Given the description of an element on the screen output the (x, y) to click on. 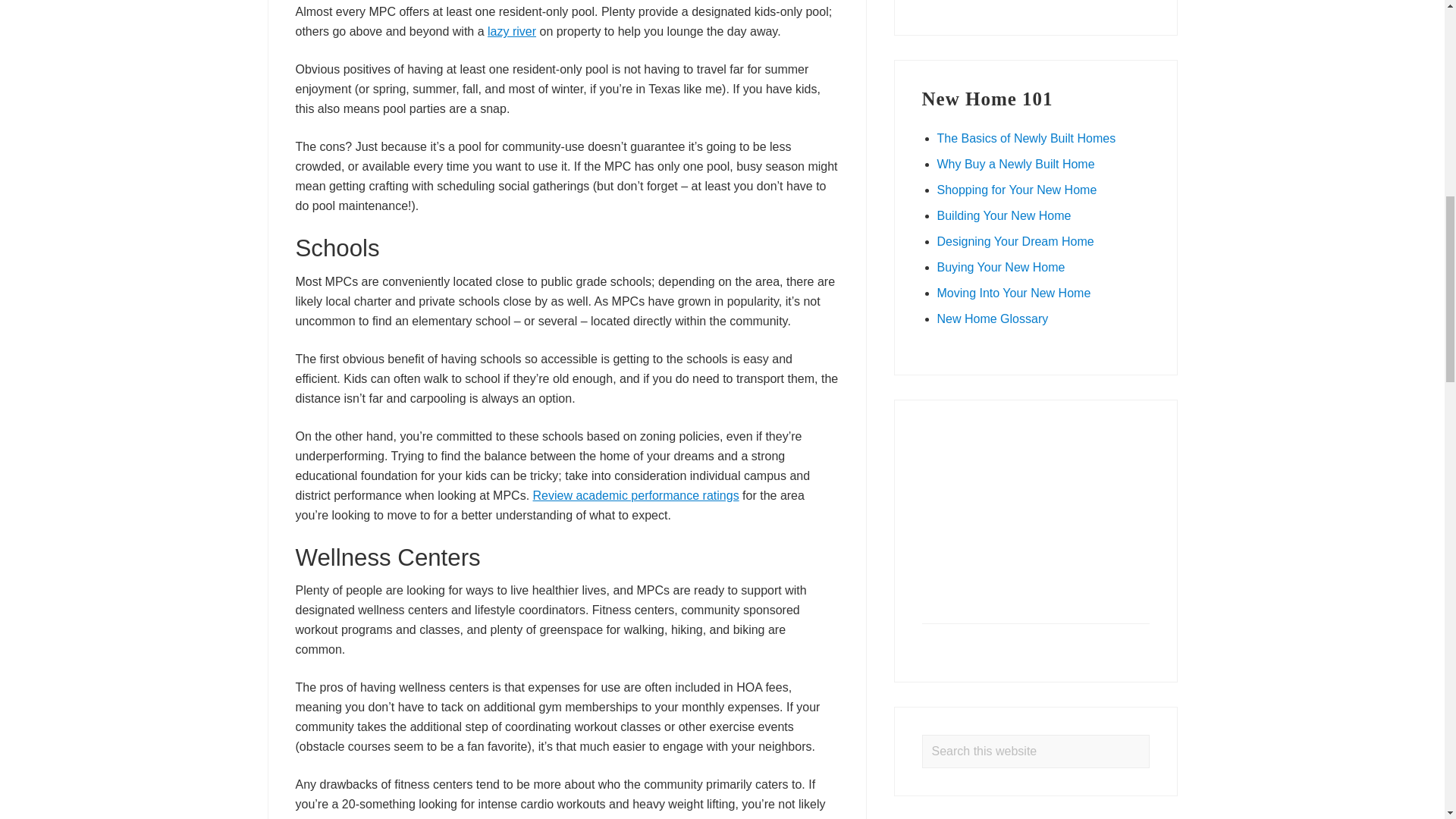
Shopping for Your New Home (1017, 189)
Designing Your Dream Home (1015, 241)
Building Your New Home (1004, 215)
New Home Glossary (992, 318)
Moving Into Your New Home (1013, 292)
Review academic performance ratings (635, 495)
The Basics of Newly Built Homes (1026, 137)
